Given the description of an element on the screen output the (x, y) to click on. 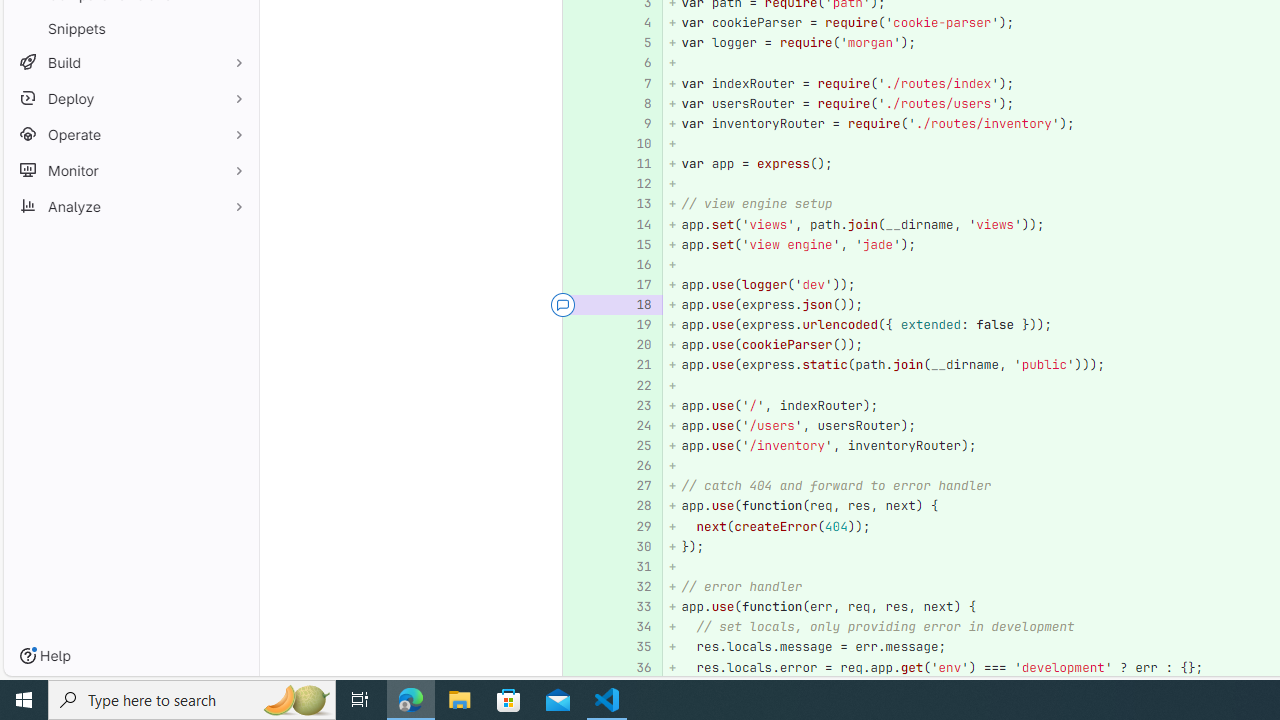
Monitor (130, 170)
18 (633, 305)
30 (633, 546)
9 (637, 123)
18 (637, 305)
34 (637, 627)
Build (130, 62)
14 (637, 223)
